Given the description of an element on the screen output the (x, y) to click on. 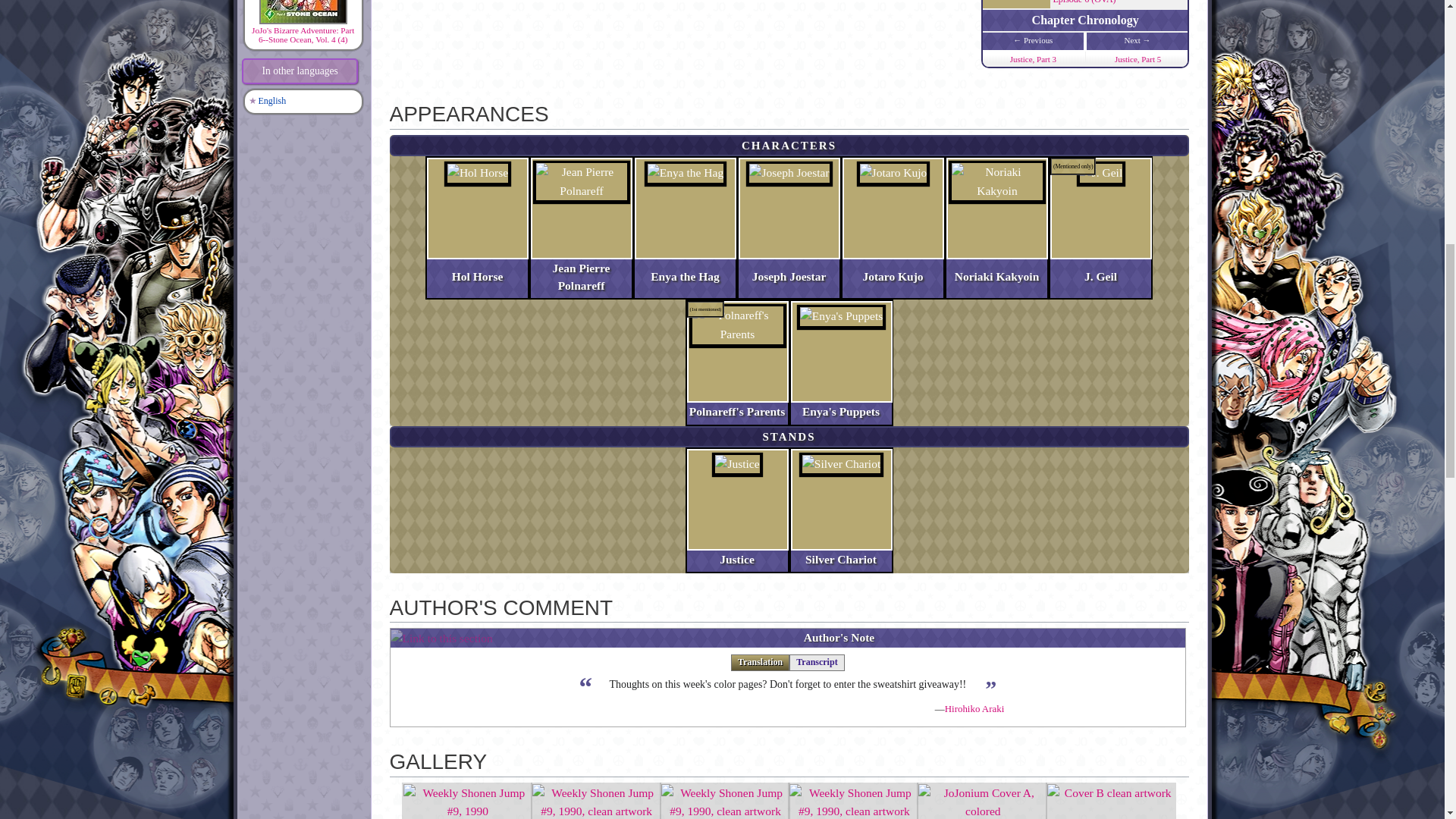
Hol Horse (477, 276)
Justice, Part 5 (1137, 58)
Chapter 158 (1137, 58)
Jean Pierre Polnareff (581, 276)
Justice, Part 3 (1033, 58)
Chapter 156 (1033, 58)
